Given the description of an element on the screen output the (x, y) to click on. 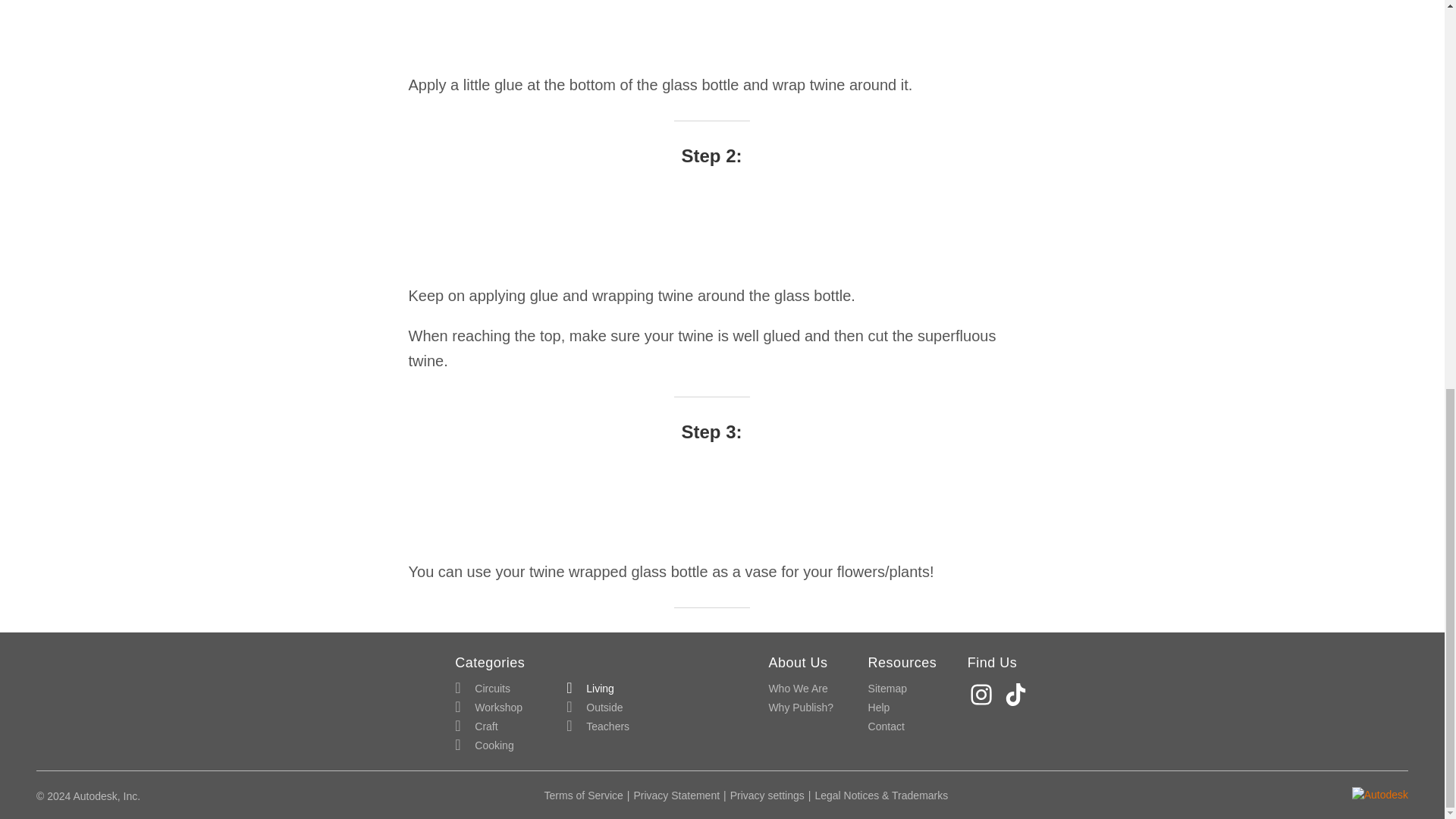
Outside (594, 707)
Workshop (488, 707)
Who We Are (797, 688)
Why Publish? (800, 707)
Instagram (983, 694)
Privacy settings (767, 795)
Contact (885, 726)
Craft (475, 726)
Circuits (482, 688)
Privacy Statement (676, 795)
